Given the description of an element on the screen output the (x, y) to click on. 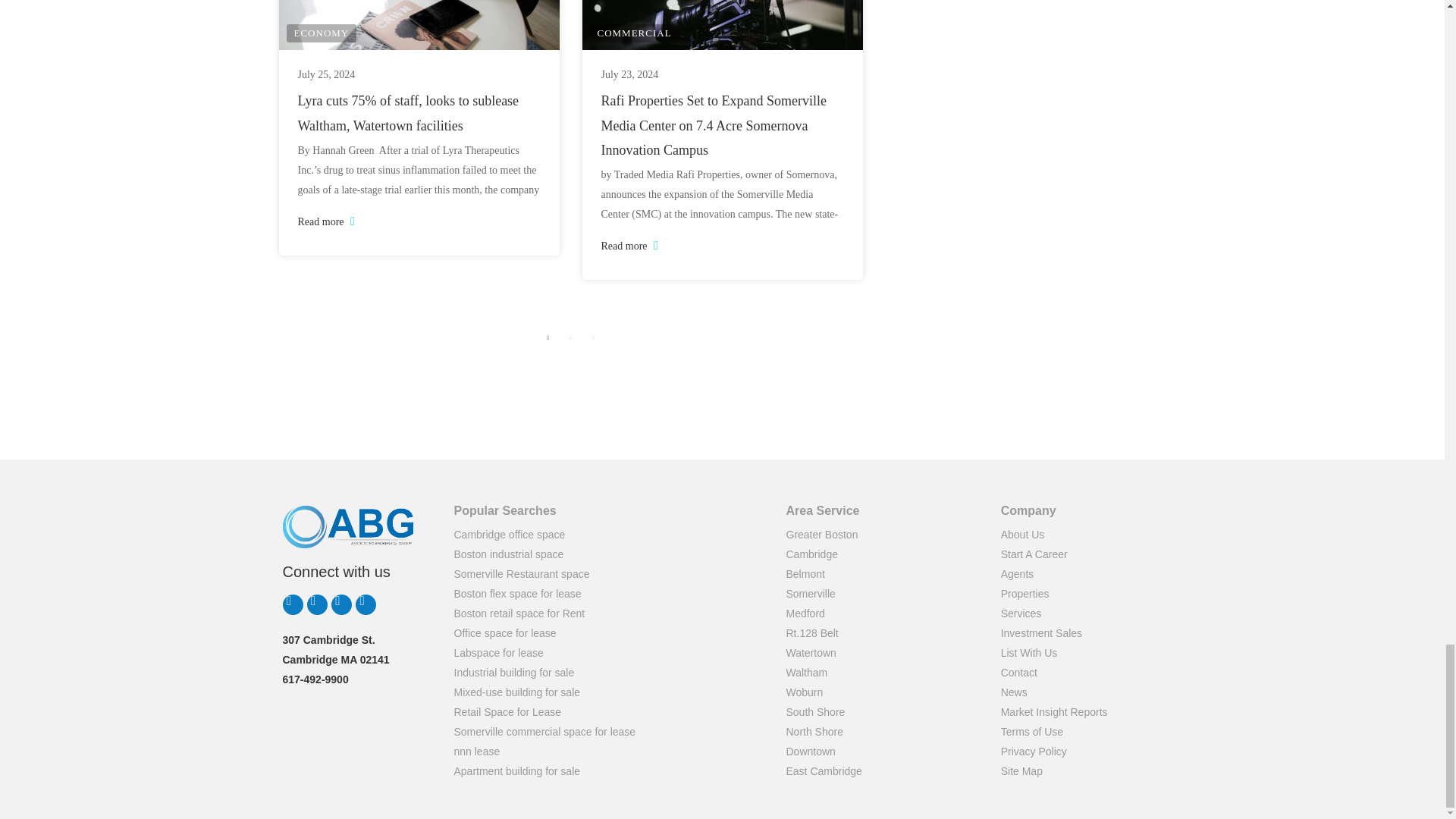
Economy (321, 33)
